Given the description of an element on the screen output the (x, y) to click on. 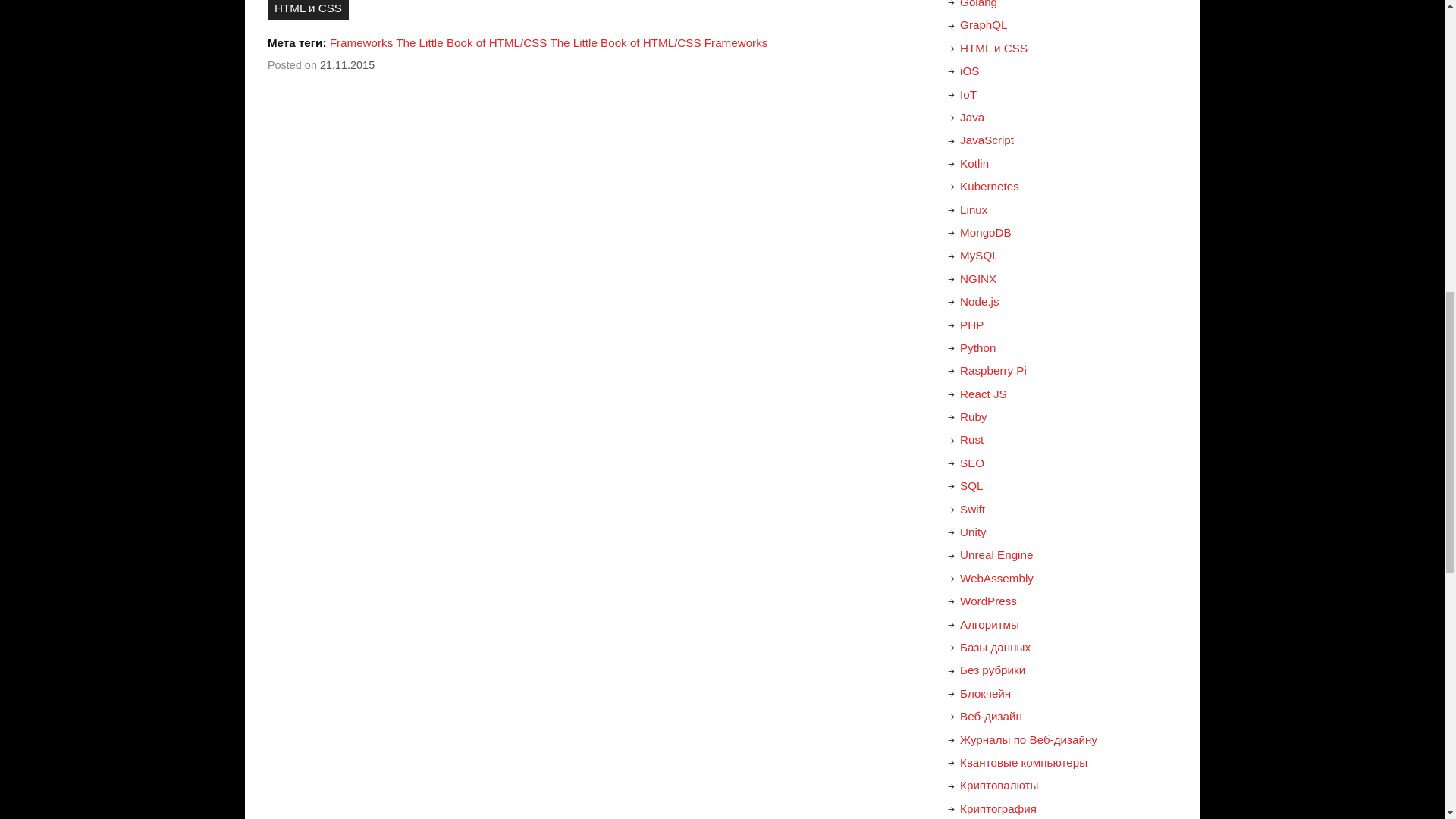
GraphQL (983, 24)
Golang (978, 4)
Frameworks (361, 42)
14:07 (347, 64)
Golang (978, 4)
21.11.2015 (347, 64)
